Given the description of an element on the screen output the (x, y) to click on. 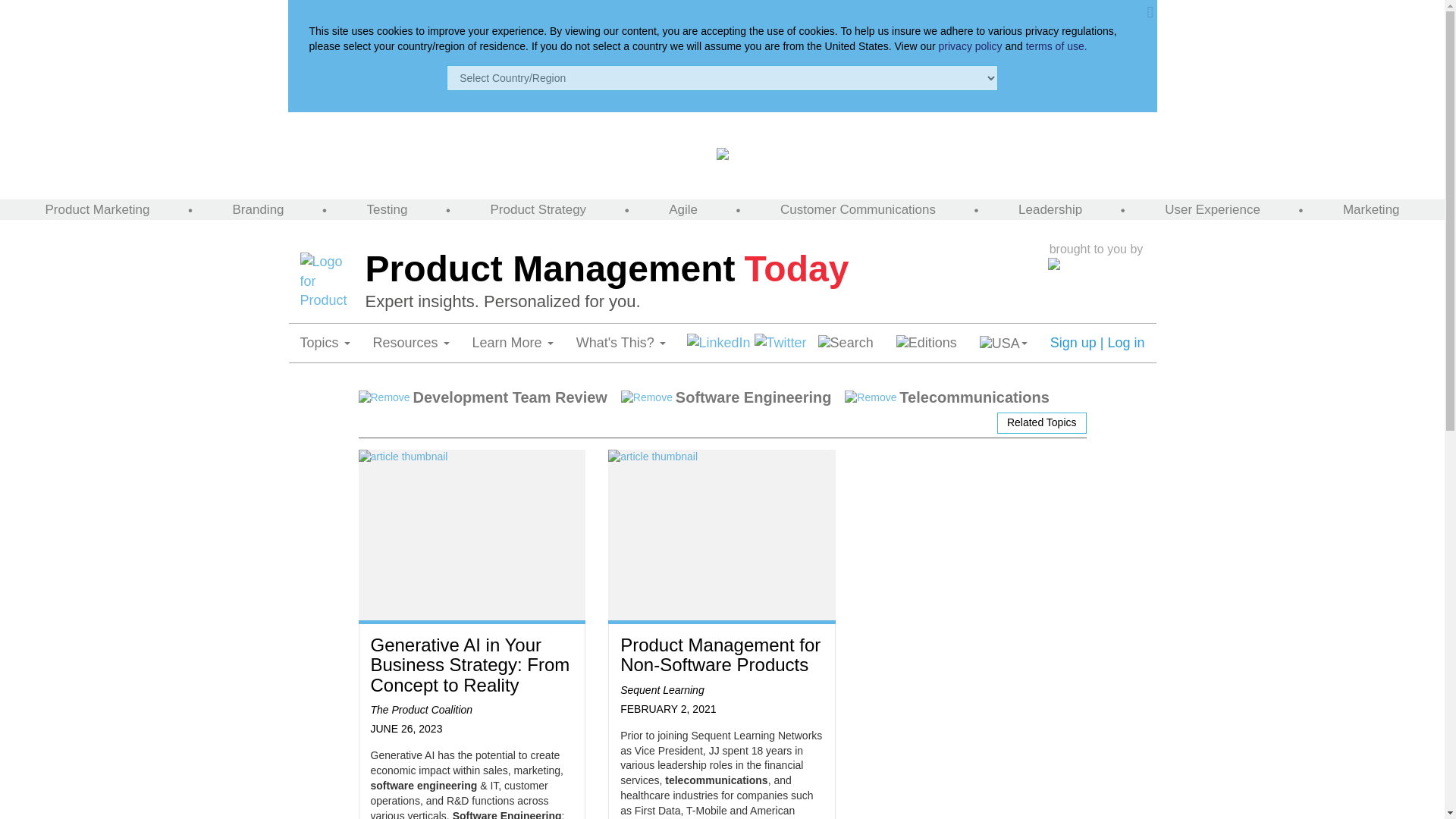
Testing (386, 209)
Branding (257, 209)
Testing (386, 209)
User Experience (1212, 209)
Select edition (926, 342)
Marketing (1370, 209)
Product Strategy (537, 209)
Product Strategy (537, 209)
Customer Communications (858, 209)
Marketing (1370, 209)
Agile (682, 209)
Product Management Today (703, 269)
Product Marketing (97, 209)
Agile (682, 209)
terms of use. (1056, 46)
